Given the description of an element on the screen output the (x, y) to click on. 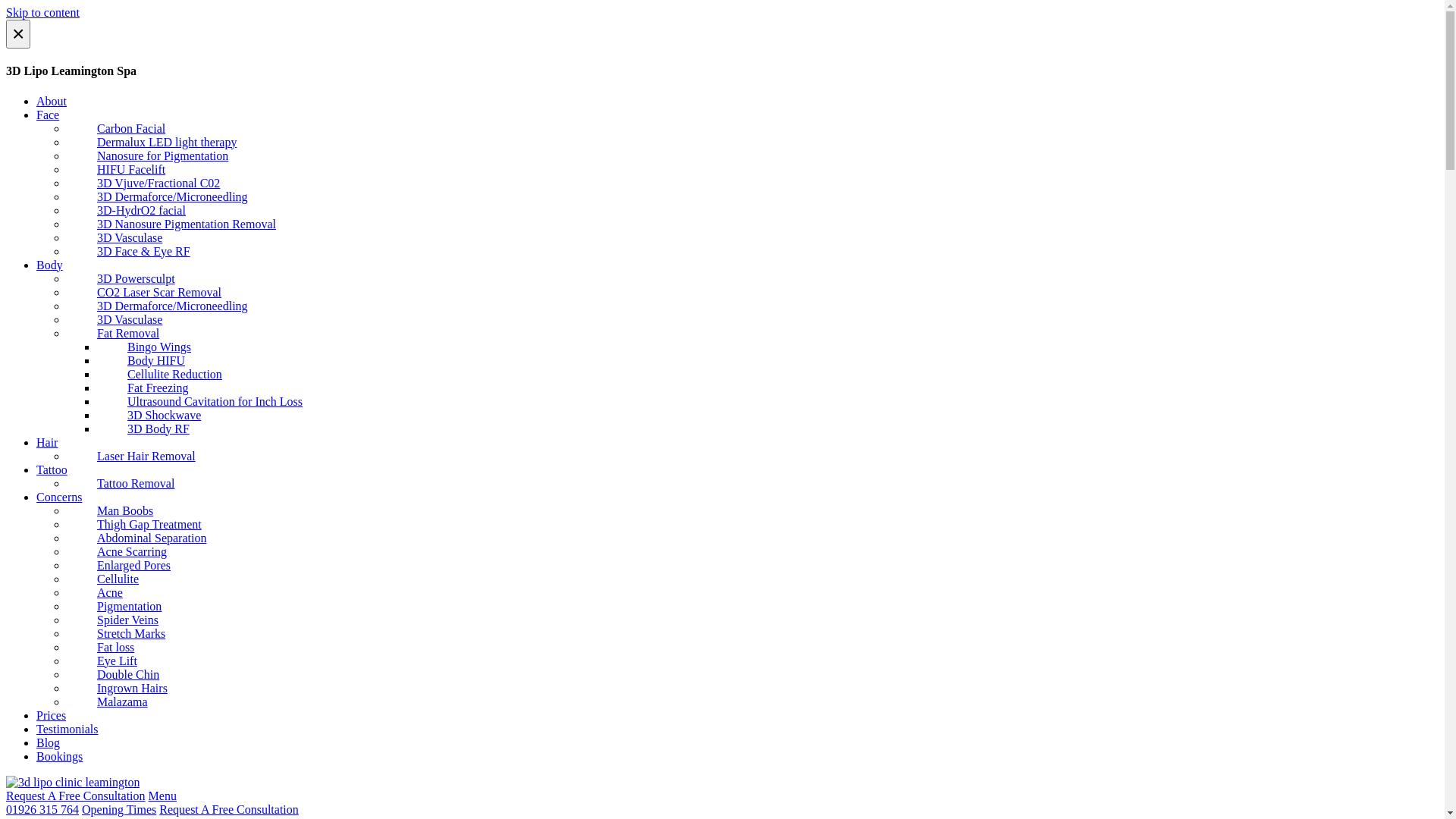
Concerns Element type: text (58, 496)
3D Face & Eye RF Element type: text (128, 250)
Enlarged Pores Element type: text (118, 564)
Hair Element type: text (46, 442)
Tattoo Removal Element type: text (120, 482)
Prices Element type: text (50, 715)
Request A Free Consultation Element type: text (75, 795)
Testimonials Element type: text (67, 728)
Cellulite Element type: text (102, 578)
3D Dermaforce/Microneedling Element type: text (156, 196)
Carbon Facial Element type: text (115, 128)
Tattoo Element type: text (51, 469)
01926 315 764 Element type: text (42, 809)
3D Powersculpt Element type: text (120, 278)
3D Body RF Element type: text (143, 428)
Request A Free Consultation Element type: text (228, 809)
Cellulite Reduction Element type: text (159, 373)
Double Chin Element type: text (112, 674)
Fat Freezing Element type: text (142, 387)
3D-HydrO2 facial Element type: text (125, 209)
Acne Element type: text (94, 592)
Bingo Wings Element type: text (144, 346)
Acne Scarring Element type: text (116, 551)
Opening Times Element type: text (118, 809)
Spider Veins Element type: text (112, 619)
About Element type: text (51, 100)
CO2 Laser Scar Removal Element type: text (143, 291)
Body Element type: text (49, 264)
Dermalux LED light therapy Element type: text (151, 141)
Man Boobs Element type: text (109, 510)
Blog Element type: text (47, 742)
3D Vasculase Element type: text (114, 319)
Laser Hair Removal Element type: text (130, 455)
Malazama Element type: text (106, 701)
Body HIFU Element type: text (141, 360)
Nanosure for Pigmentation Element type: text (147, 155)
3D Vjuve/Fractional C02 Element type: text (142, 182)
Ultrasound Cavitation for Inch Loss Element type: text (199, 401)
Face Element type: text (47, 114)
HIFU Facelift Element type: text (115, 169)
3D Dermaforce/Microneedling Element type: text (156, 305)
Pigmentation Element type: text (113, 605)
Eye Lift Element type: text (101, 660)
3D Vasculase Element type: text (114, 237)
Fat loss Element type: text (100, 646)
3D Nanosure Pigmentation Removal Element type: text (171, 223)
Stretch Marks Element type: text (115, 633)
Fat Removal Element type: text (112, 332)
Skip to content Element type: text (42, 12)
Ingrown Hairs Element type: text (116, 687)
Thigh Gap Treatment Element type: text (133, 523)
3D Shockwave Element type: text (148, 414)
Bookings Element type: text (59, 755)
Menu Element type: text (162, 795)
Abdominal Separation Element type: text (136, 537)
